Given the description of an element on the screen output the (x, y) to click on. 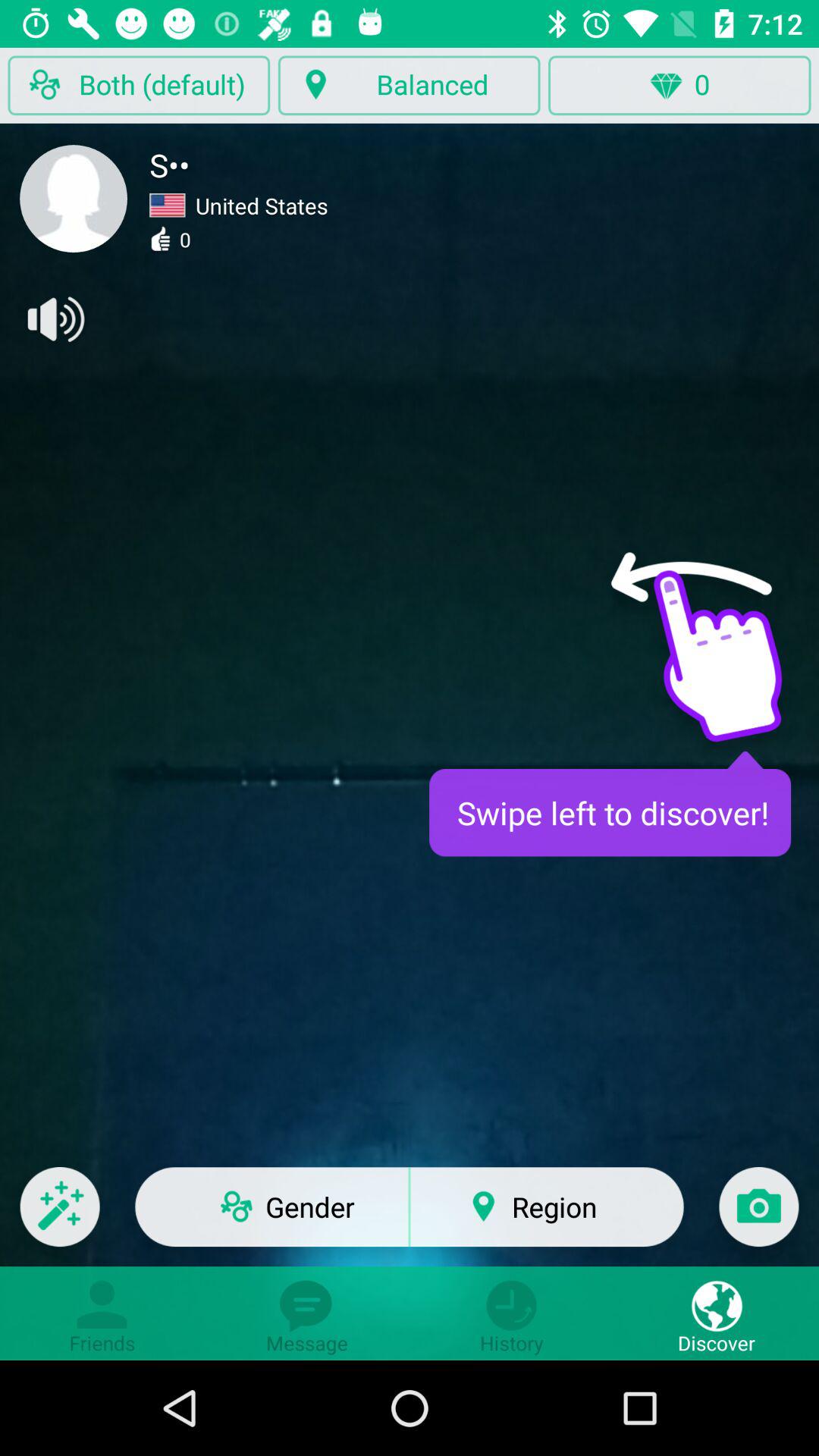
select the icon next to region icon (758, 1216)
